Given the description of an element on the screen output the (x, y) to click on. 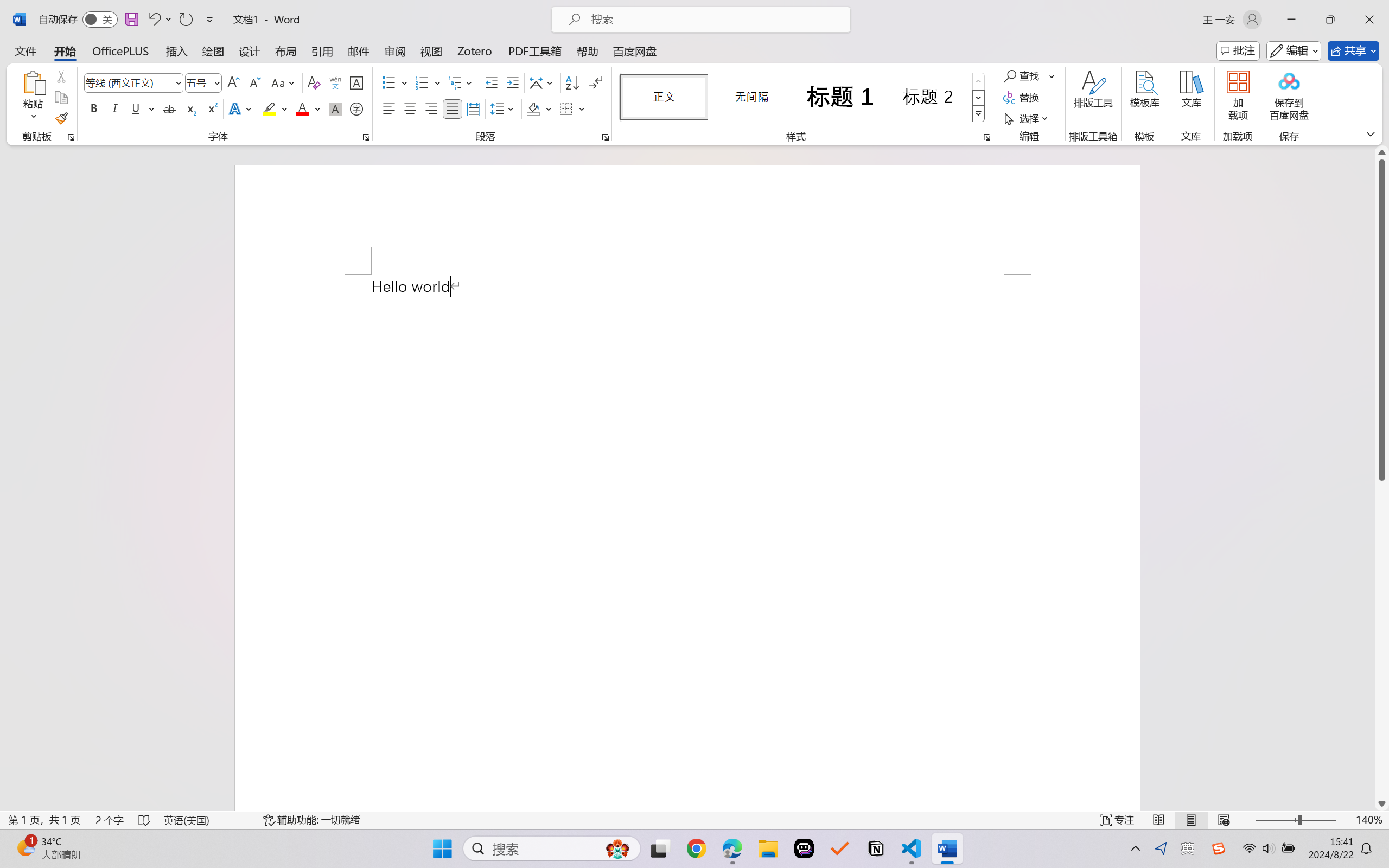
AutomationID: DynamicSearchBoxGleamImage (617, 848)
Class: Image (1218, 847)
Class: NetUIImage (978, 114)
